Given the description of an element on the screen output the (x, y) to click on. 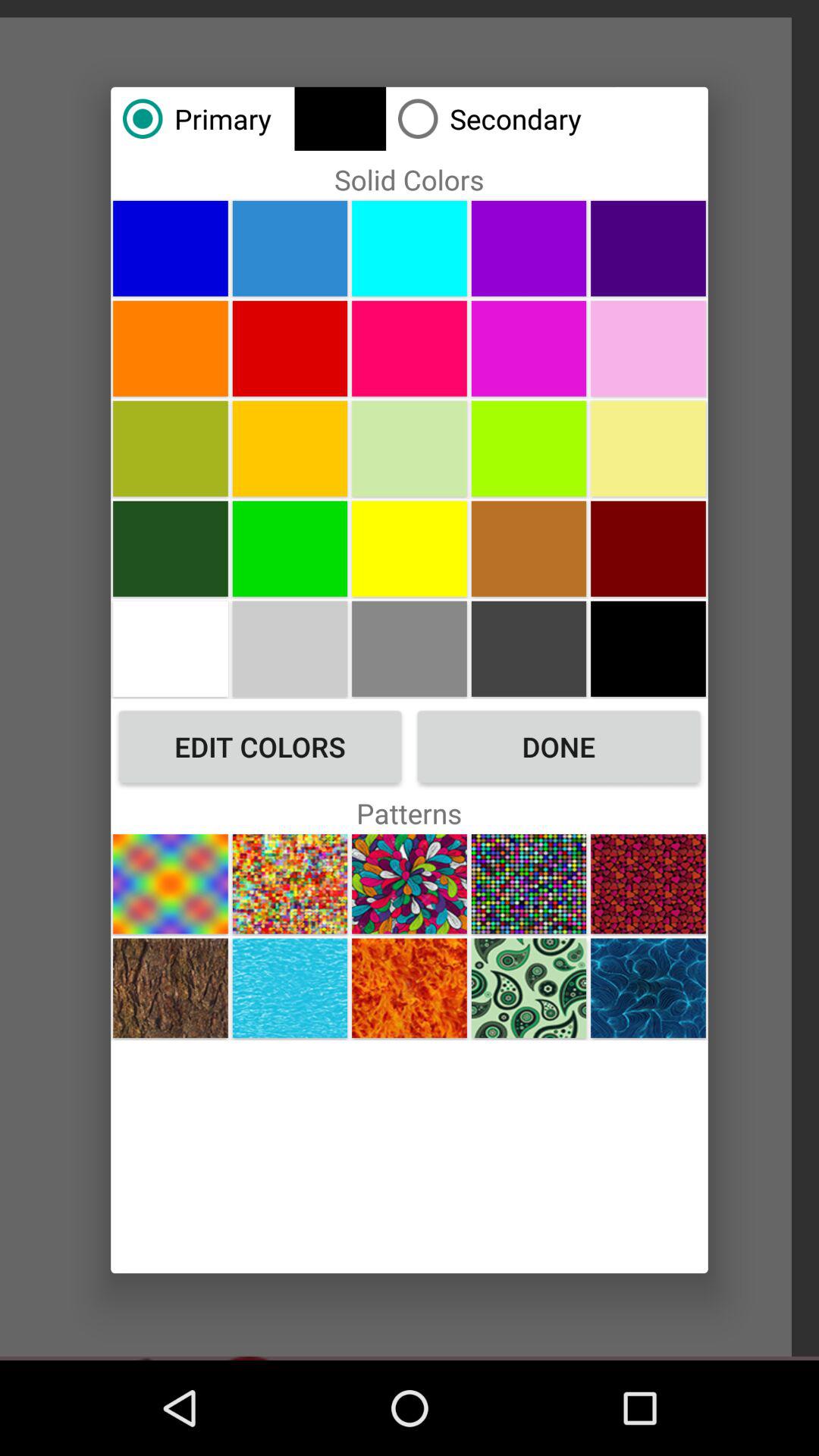
open item to the right of edit colors (558, 746)
